Given the description of an element on the screen output the (x, y) to click on. 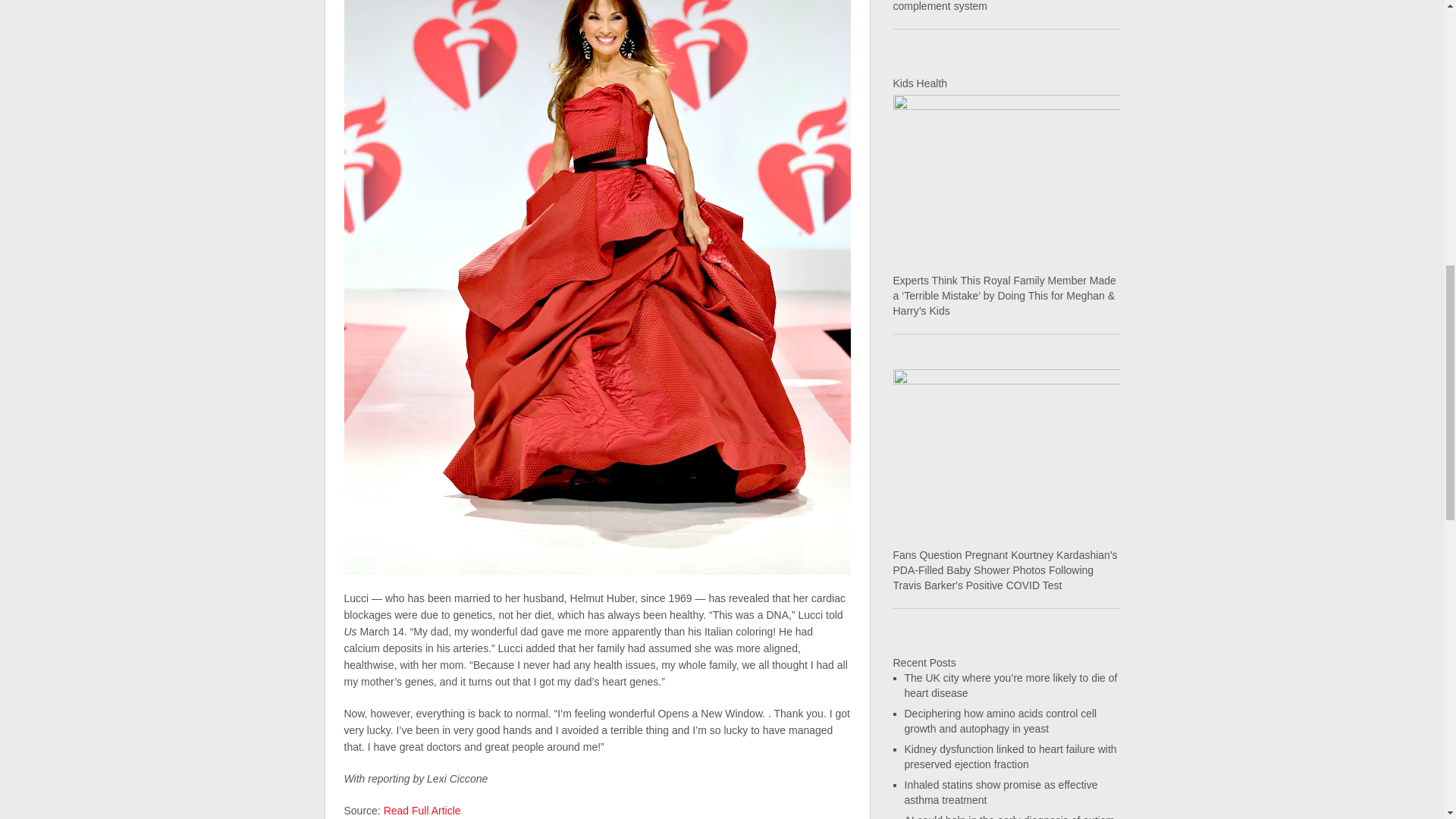
Inhaled statins show promise as effective asthma treatment (1000, 791)
Read Full Article (422, 810)
AI could help in the early diagnosis of autism, study finds (1010, 816)
Kulkarni recognized for research into complement system (979, 6)
